Given the description of an element on the screen output the (x, y) to click on. 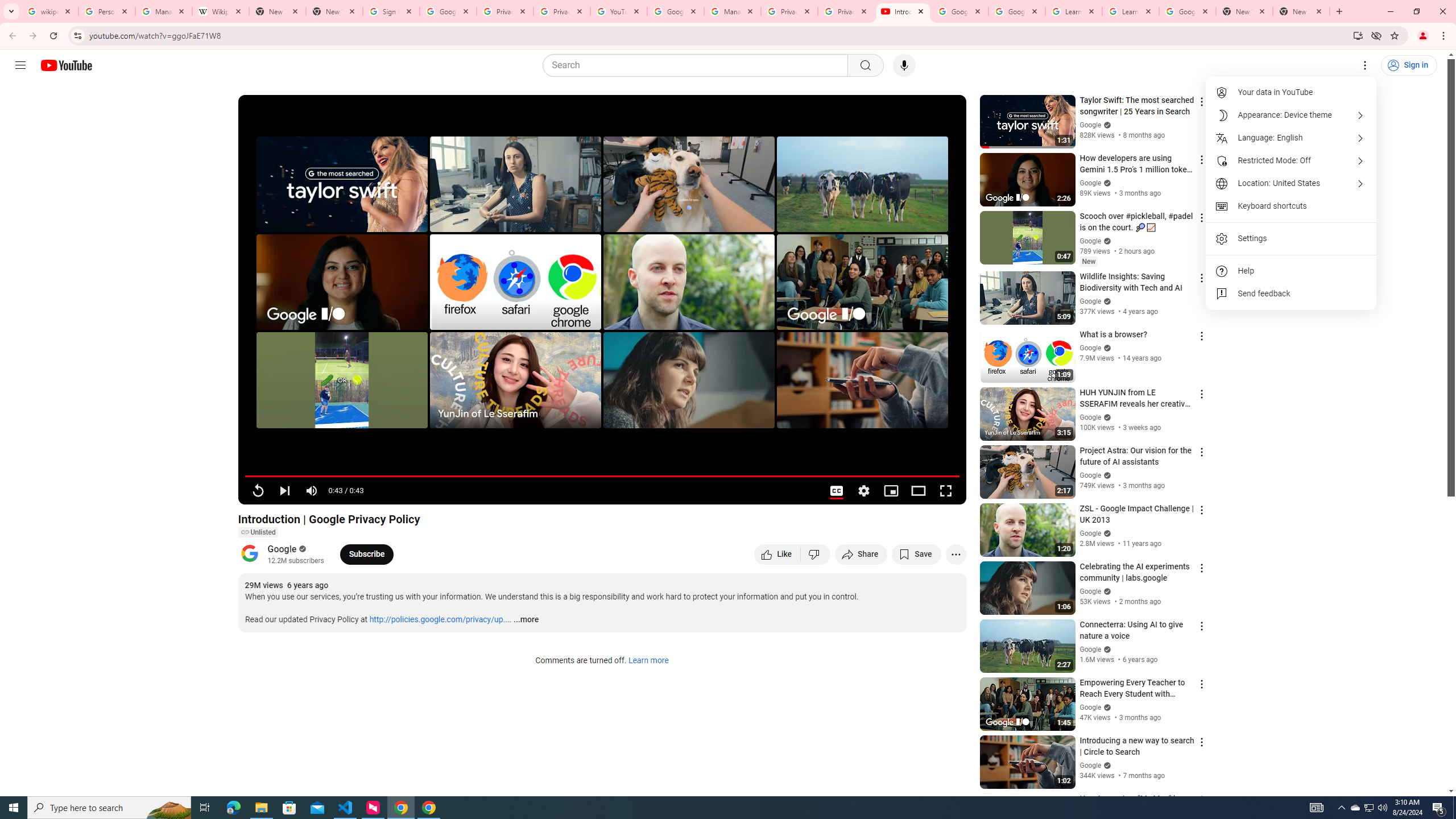
http://policies.google.com/privacy/up... (439, 619)
Dislike this video (815, 554)
Next (SHIFT+n) (284, 490)
Keyboard shortcuts (1291, 205)
